Given the description of an element on the screen output the (x, y) to click on. 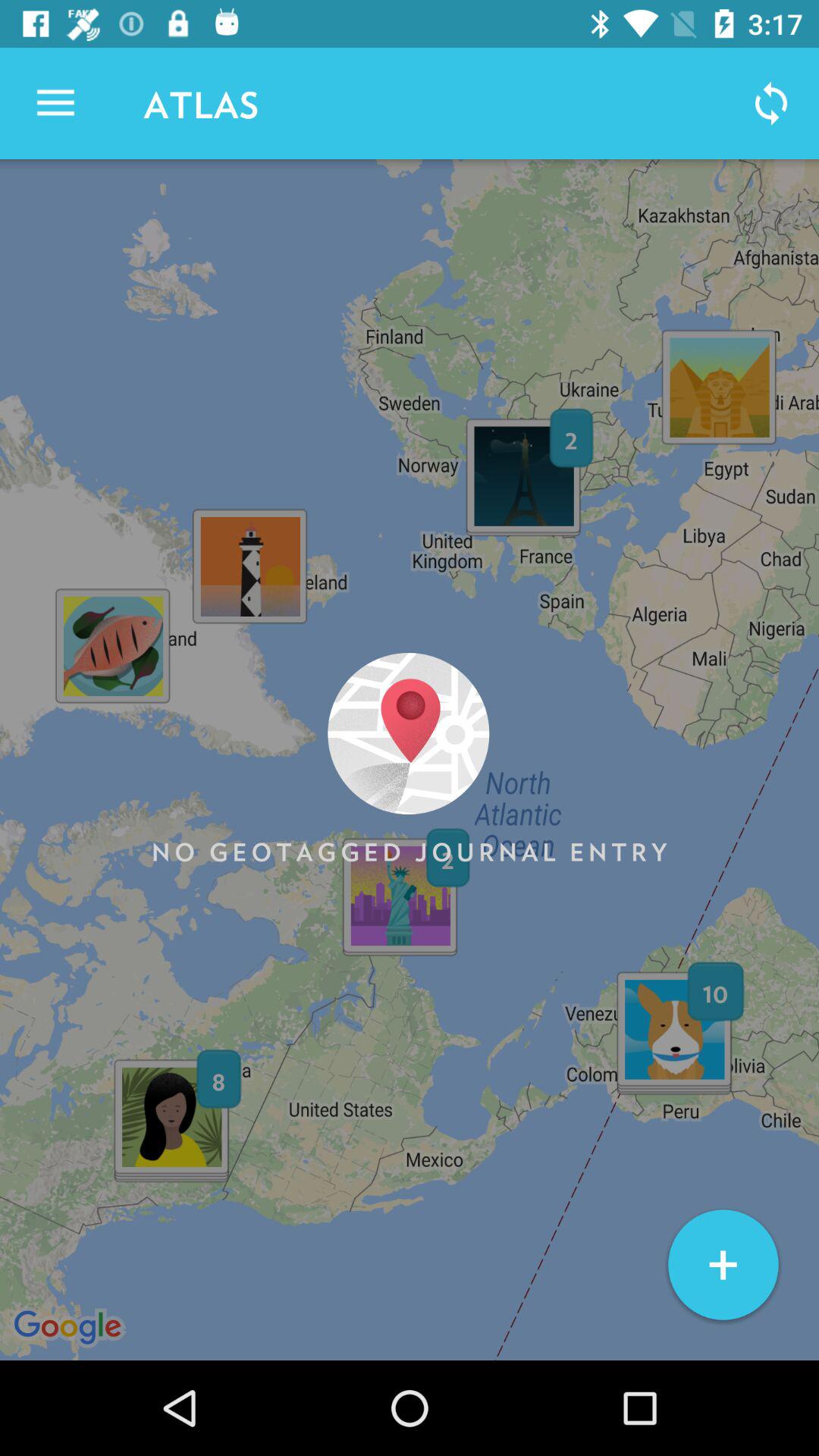
choose item at the bottom right corner (723, 1264)
